Given the description of an element on the screen output the (x, y) to click on. 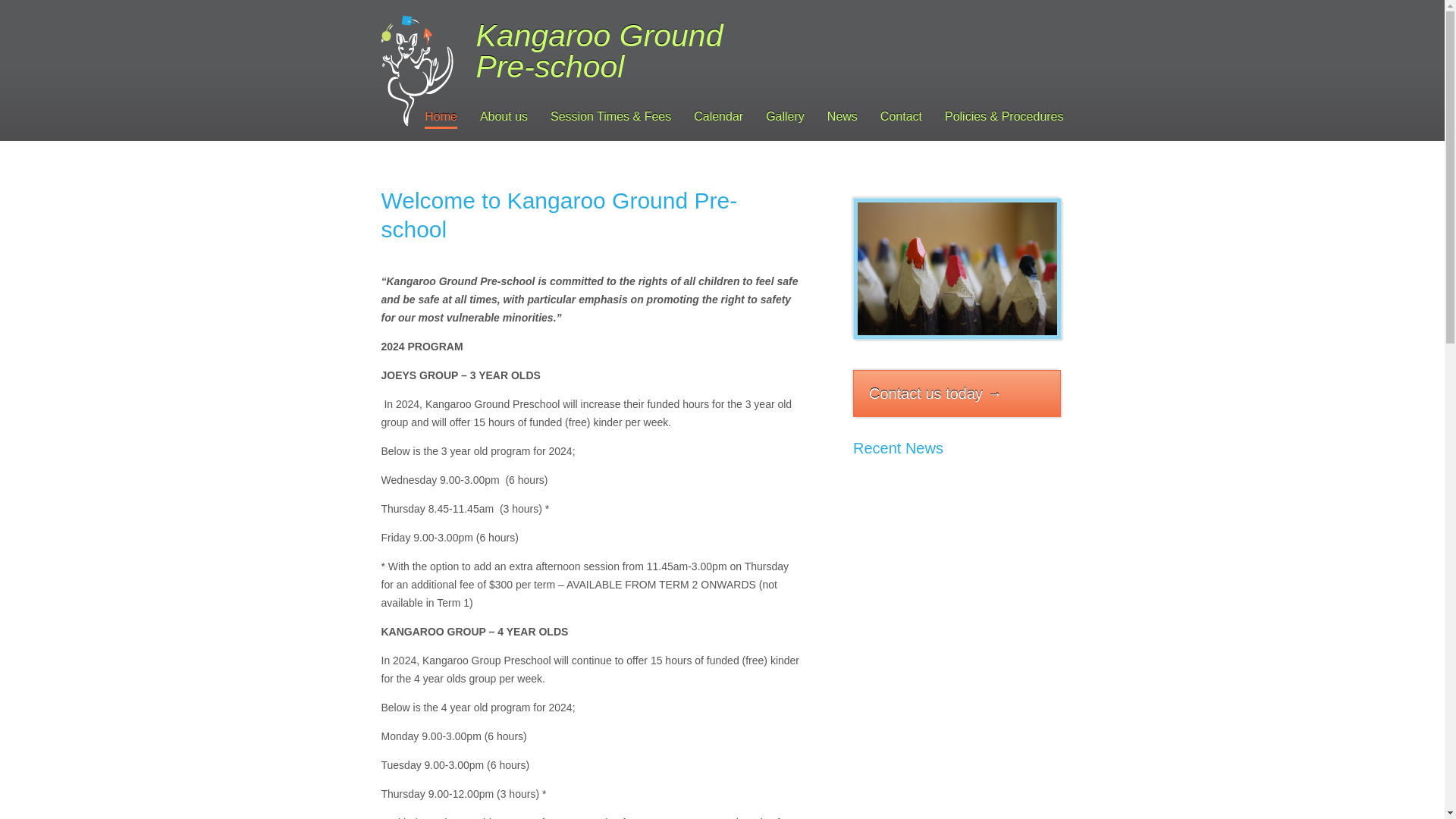
Contact Element type: text (901, 117)
Policies & Procedures Element type: text (1003, 117)
Kangaroo Ground Pre-school Element type: hover (957, 268)
Gallery Element type: text (784, 117)
About us Element type: text (503, 117)
Session Times & Fees Element type: text (610, 117)
Home Element type: text (440, 117)
News Element type: text (842, 117)
Calendar Element type: text (718, 117)
Kangaroo Ground Pre-school | Element type: text (416, 70)
